Given the description of an element on the screen output the (x, y) to click on. 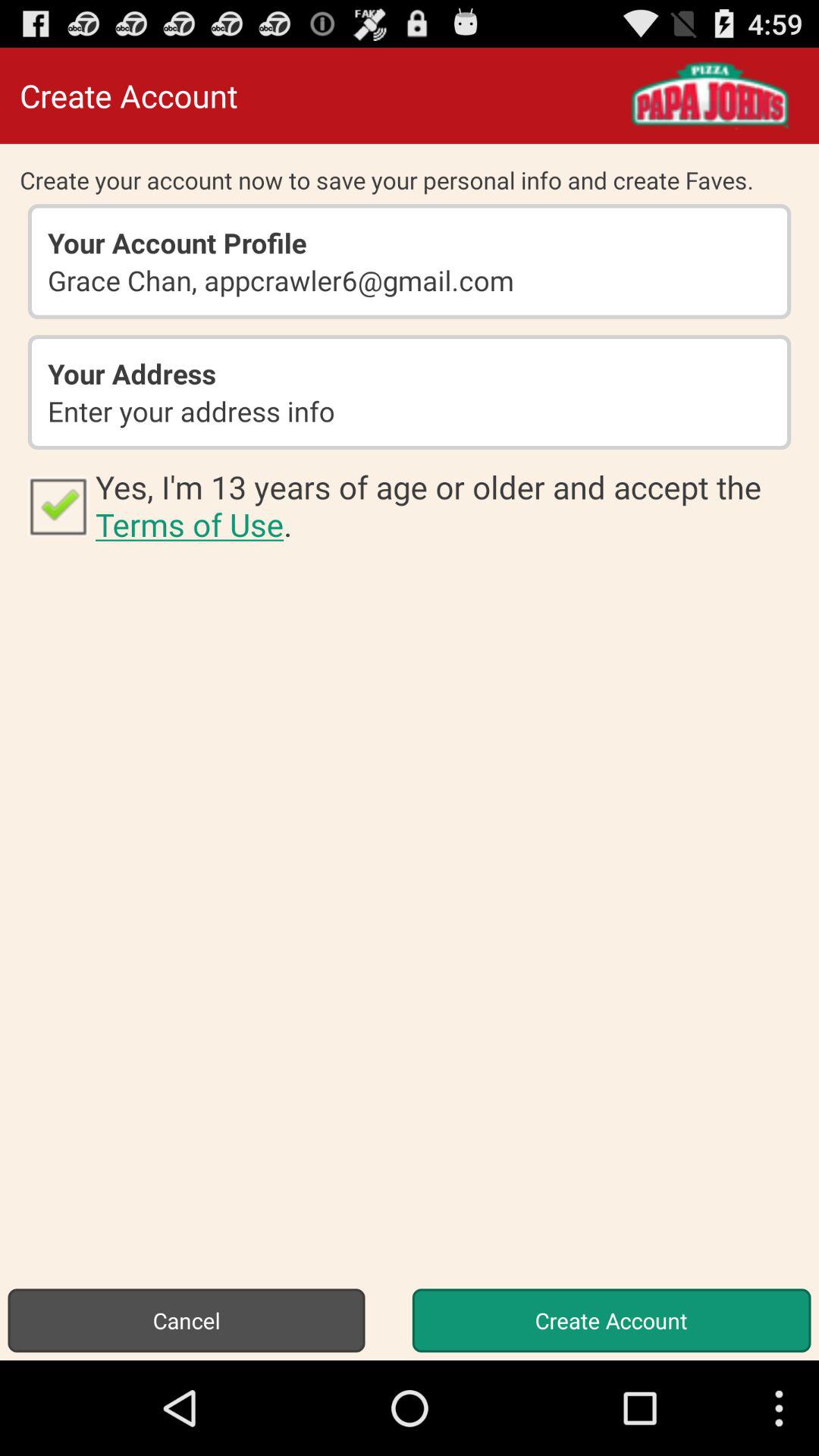
turn off icon on the left (57, 505)
